Given the description of an element on the screen output the (x, y) to click on. 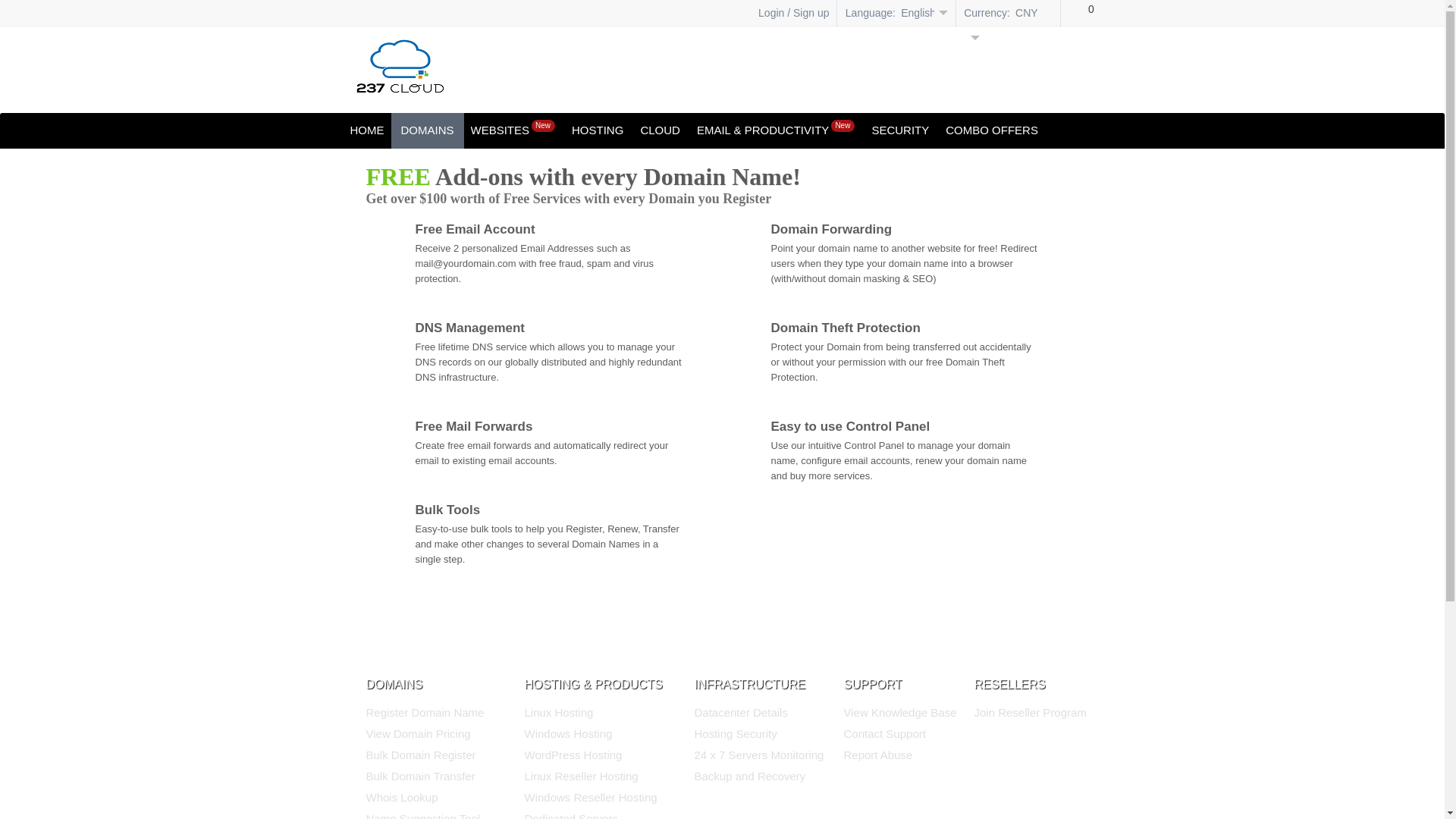
Datacenter Details Element type: text (740, 712)
Join Reseller Program Element type: text (1029, 712)
Register Domain Name Element type: text (424, 712)
View Knowledge Base Element type: text (899, 712)
0 Element type: text (1082, 15)
Linux Hosting Element type: text (558, 712)
HOME Element type: text (367, 130)
COMBO OFFERS Element type: text (991, 130)
Bulk Domain Transfer Element type: text (419, 775)
24 x 7 Servers Monitoring Element type: text (759, 754)
Whois Lookup Element type: text (401, 796)
WEBSITESNew Element type: text (512, 130)
Hosting Security Element type: text (735, 733)
WordPress Hosting Element type: text (573, 754)
Linux Reseller Hosting Element type: text (581, 775)
Contact Support Element type: text (884, 733)
Windows Reseller Hosting Element type: text (590, 796)
Login / Sign up Element type: text (786, 12)
EMAIL & PRODUCTIVITYNew Element type: text (775, 130)
Windows Hosting Element type: text (568, 733)
HOSTING Element type: text (597, 130)
View Domain Pricing Element type: text (417, 733)
DOMAINS Element type: text (426, 130)
SECURITY Element type: text (899, 130)
CLOUD Element type: text (660, 130)
Backup and Recovery Element type: text (750, 775)
Bulk Domain Register Element type: text (420, 754)
Report Abuse Element type: text (877, 754)
